Given the description of an element on the screen output the (x, y) to click on. 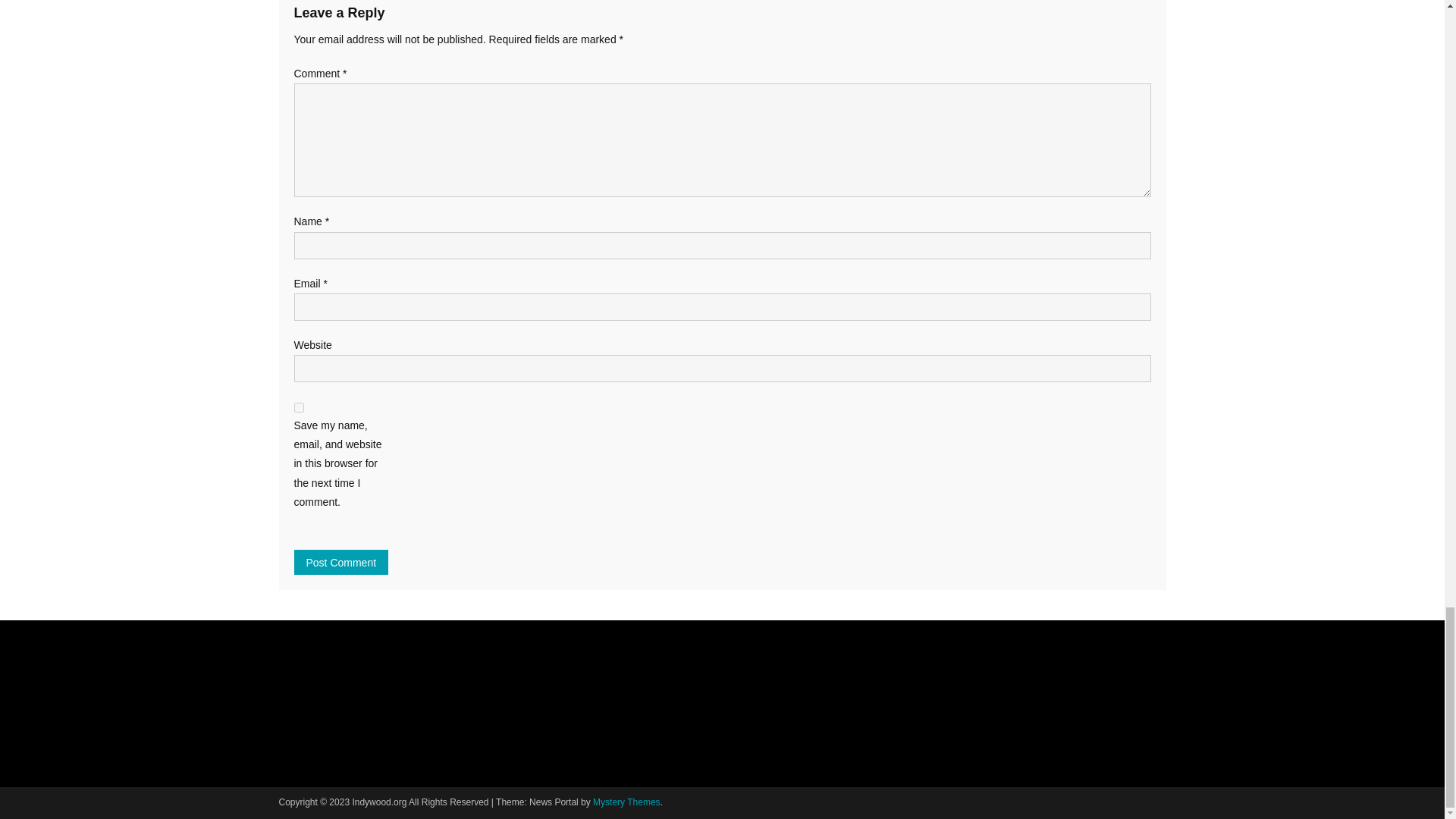
Post Comment (341, 561)
Post Comment (341, 561)
yes (299, 407)
DMCA.com Protection Status (392, 706)
Mystery Themes (625, 801)
